Given the description of an element on the screen output the (x, y) to click on. 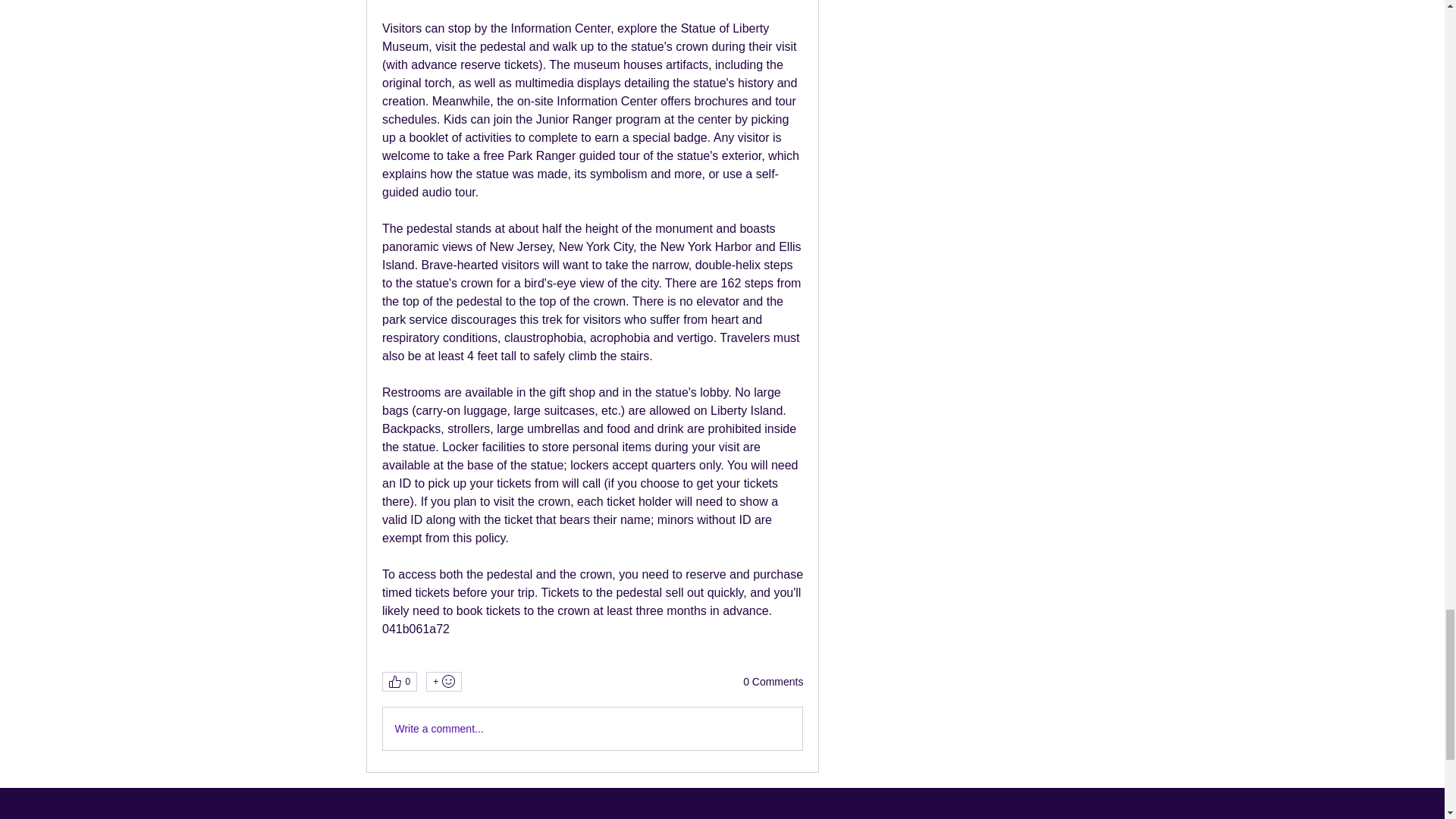
Write a comment... (591, 728)
0 Comments (772, 682)
